Given the description of an element on the screen output the (x, y) to click on. 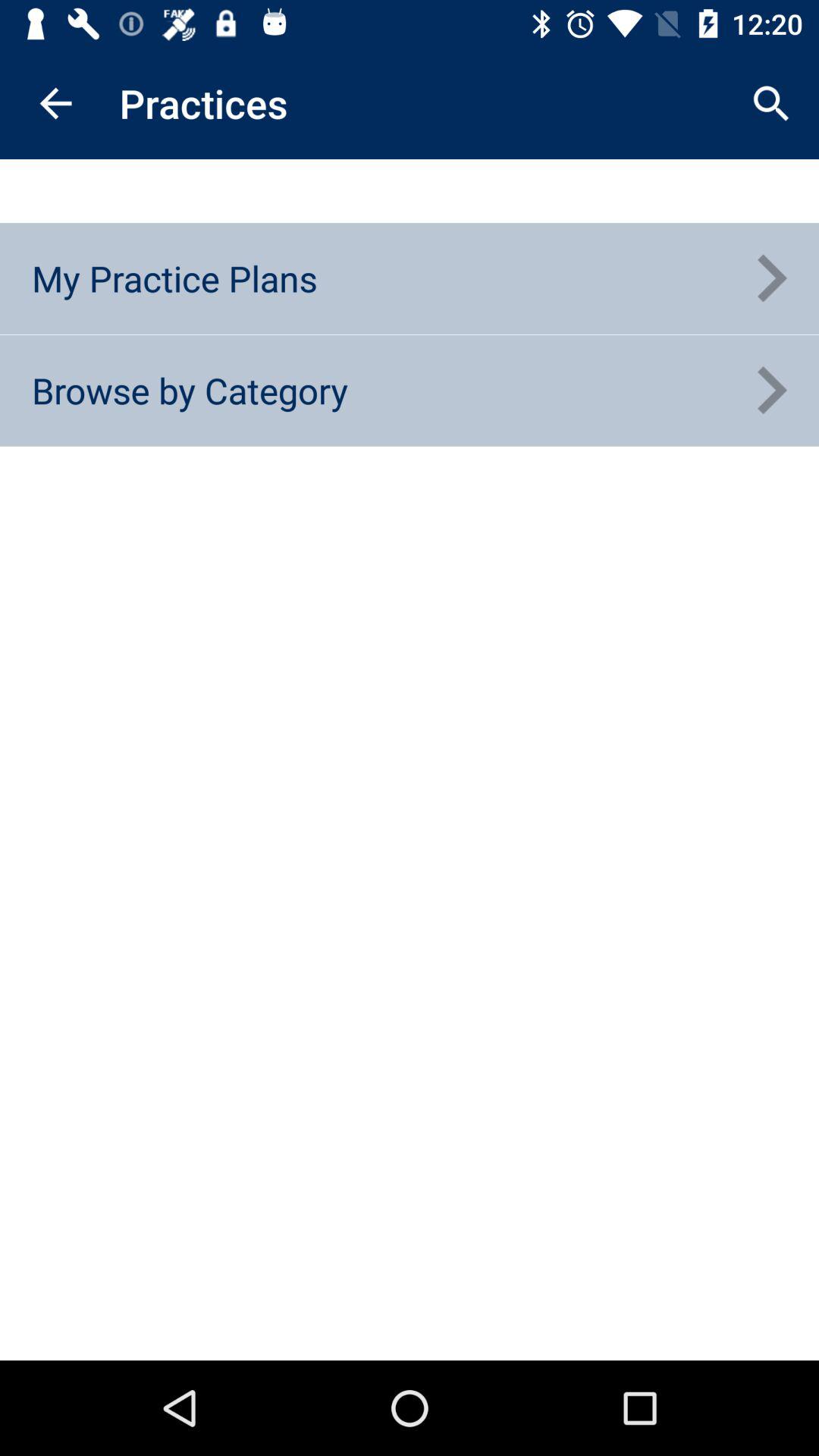
click the item above the my practice plans item (55, 103)
